Given the description of an element on the screen output the (x, y) to click on. 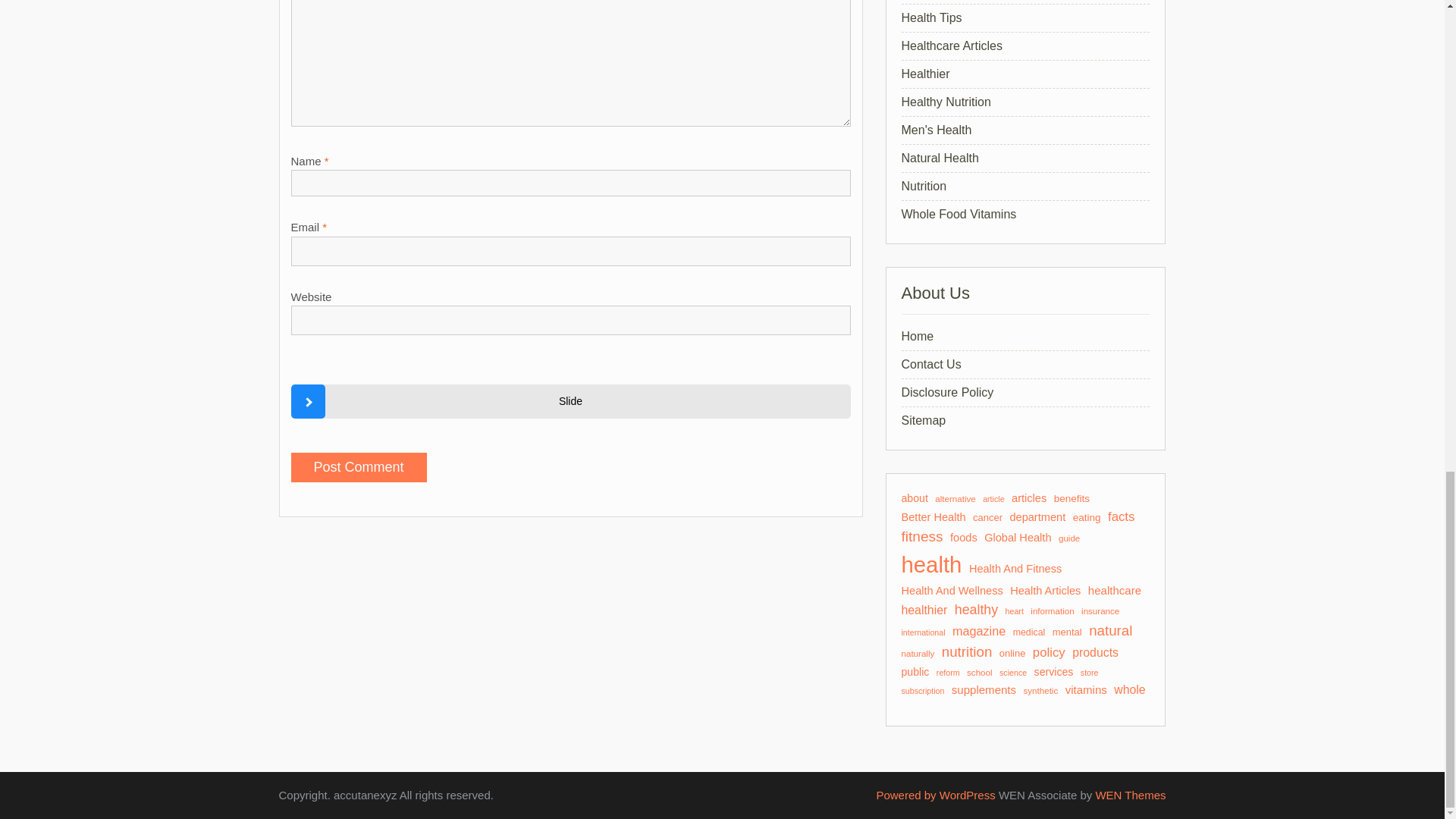
Post Comment (358, 467)
